Given the description of an element on the screen output the (x, y) to click on. 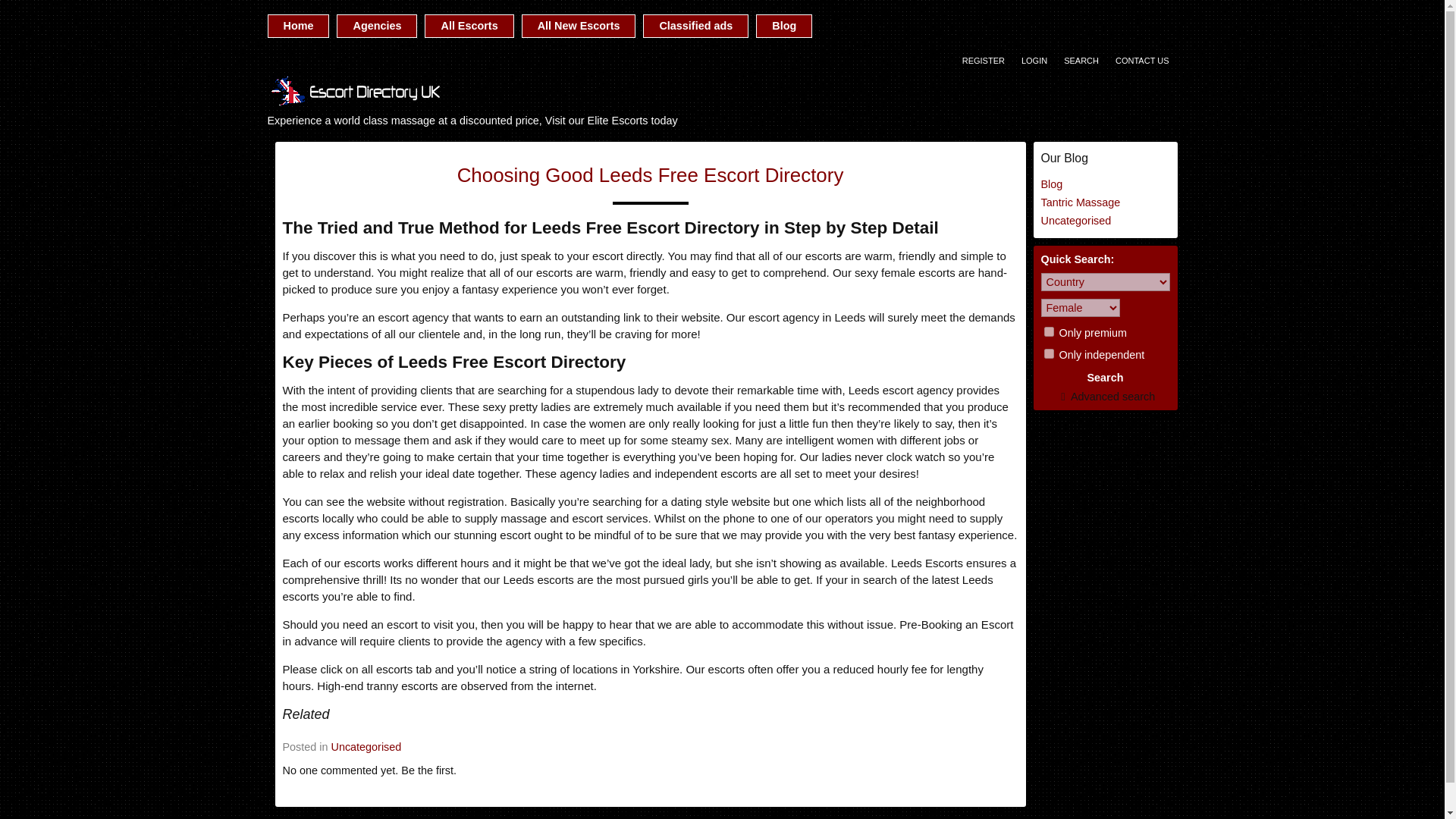
SEARCH (1081, 60)
Uncategorised (365, 746)
CONTACT US (1141, 60)
Choosing Good Leeds Free Escort Directory (650, 174)
Search (1104, 377)
1 (1047, 331)
England Escort Directory (355, 104)
Blog (783, 25)
All Escorts (469, 25)
yes (1047, 353)
